Given the description of an element on the screen output the (x, y) to click on. 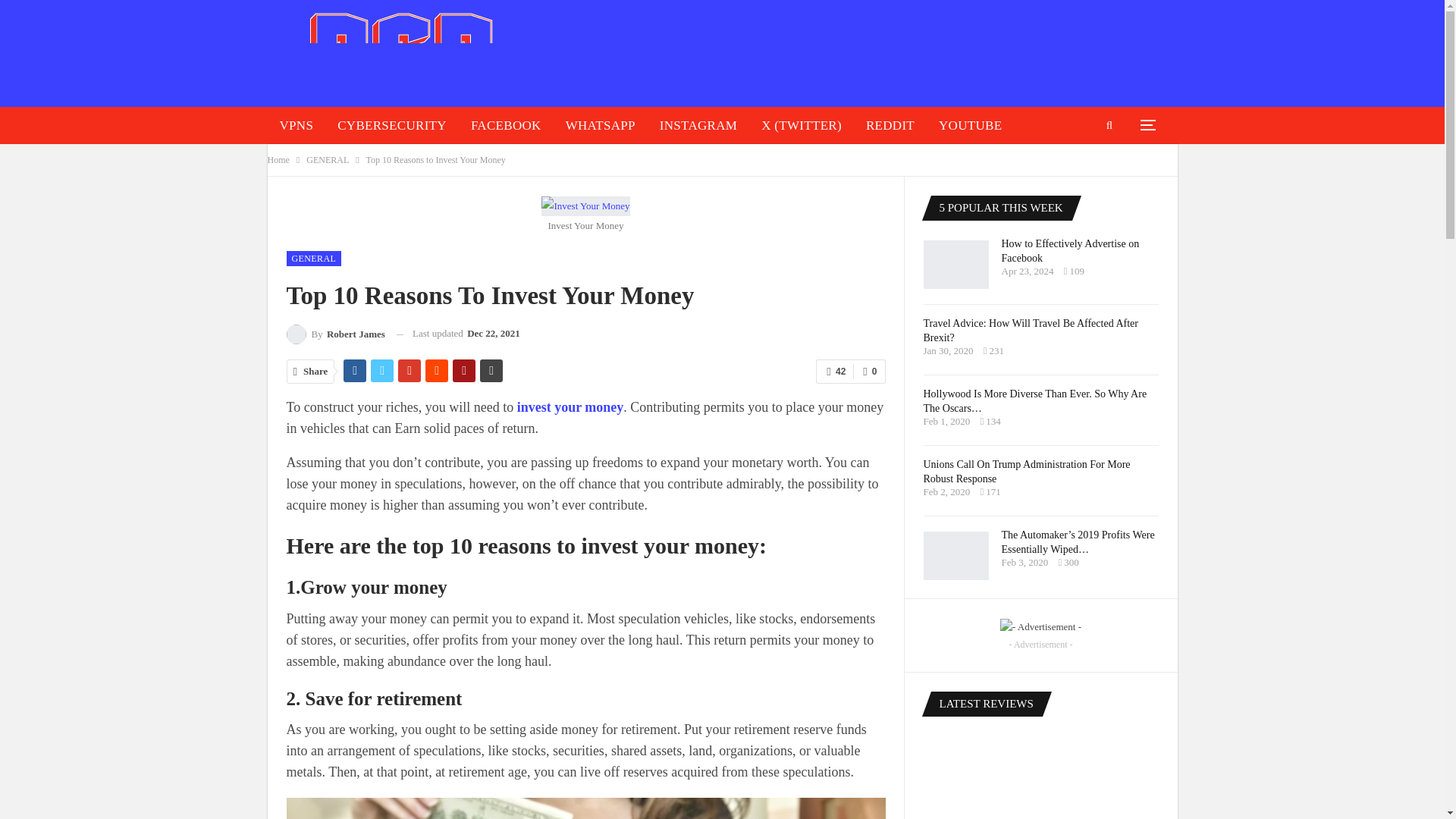
CYBERSECURITY (391, 125)
SNAPCHAT (474, 162)
Browse Author Articles (335, 333)
VPNS (295, 125)
0 (869, 371)
INSTAGRAM (698, 125)
FACEBOOK (505, 125)
REDDIT (889, 125)
LINKEDIN (310, 162)
How to Effectively Advertise on Facebook (955, 264)
invest your money (570, 406)
YOUTUBE (969, 125)
WHATSAPP (600, 125)
TIKTOK (391, 162)
Home (277, 159)
